Given the description of an element on the screen output the (x, y) to click on. 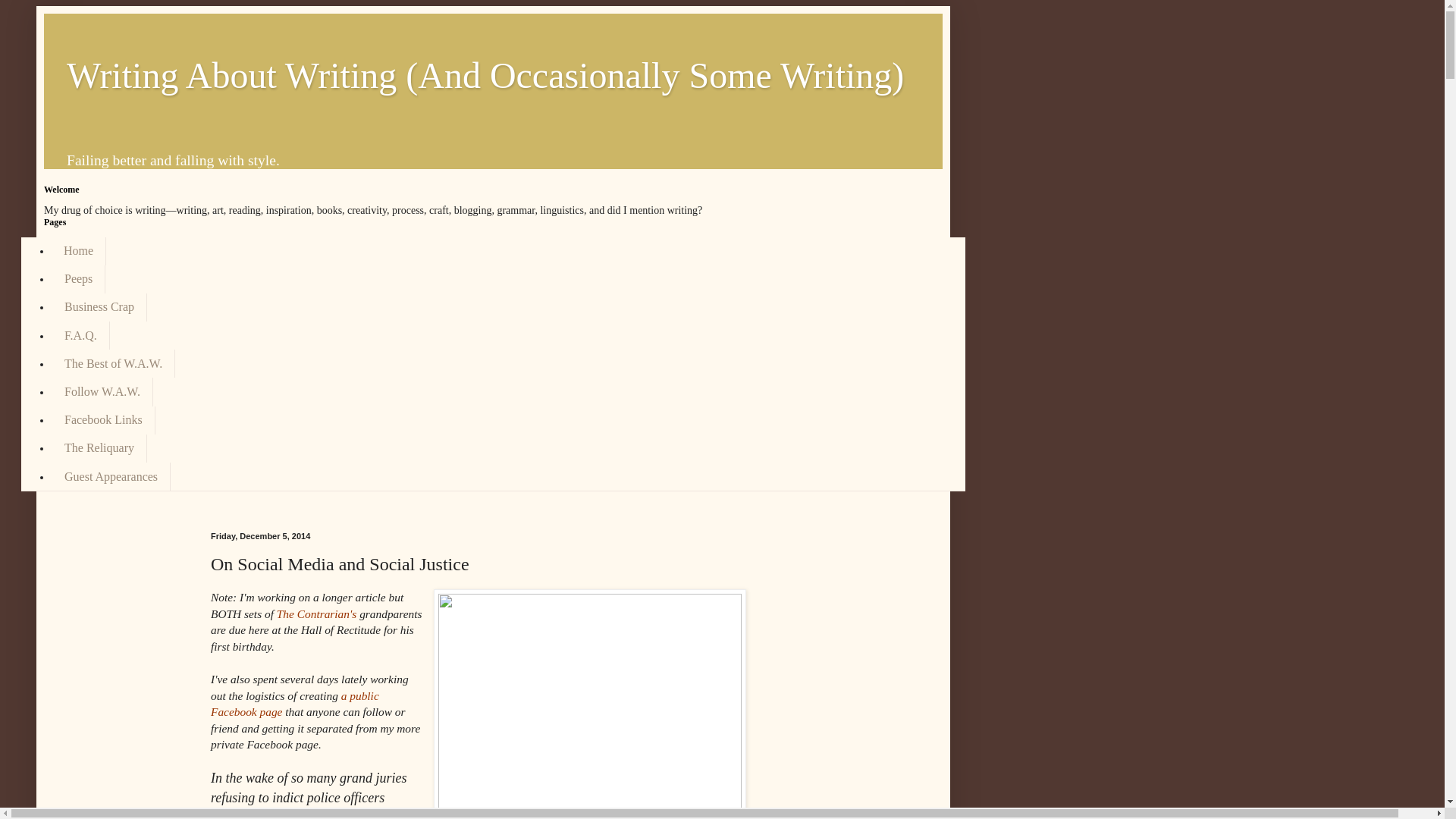
a public Facebook page (294, 704)
Guest Appearances (110, 476)
Facebook Links (102, 420)
The Best of W.A.W. (112, 363)
Follow W.A.W. (101, 391)
The Contrarian's (316, 613)
Business Crap (98, 307)
Peeps (77, 279)
The Reliquary (98, 448)
Home (78, 250)
F.A.Q. (80, 335)
